Given the description of an element on the screen output the (x, y) to click on. 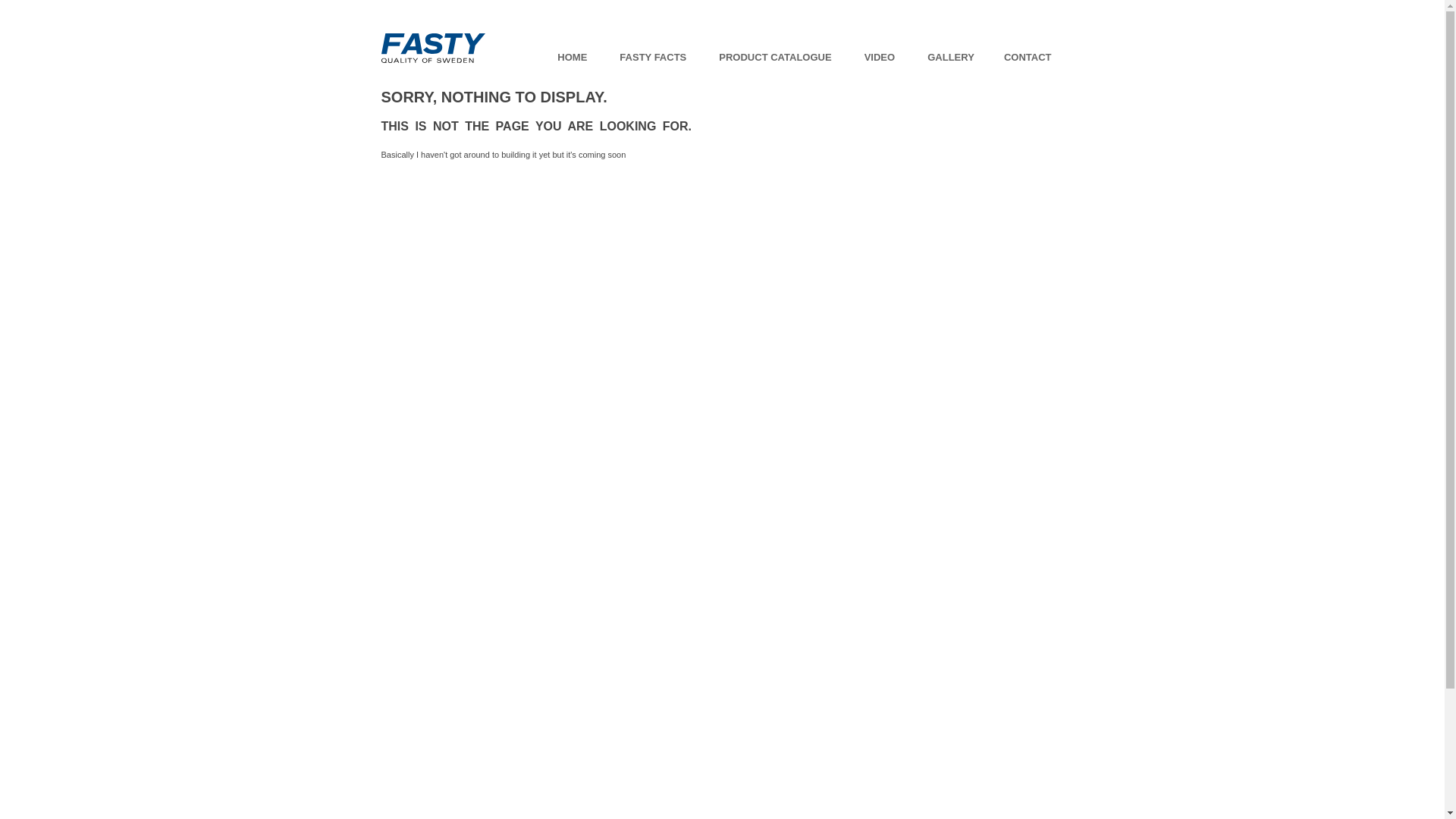
FASTY FACTS Element type: text (652, 57)
HOME Element type: text (572, 57)
PRODUCT CATALOGUE Element type: text (774, 57)
CONTACT Element type: text (1027, 57)
GALLERY Element type: text (950, 57)
VIDEO Element type: text (879, 57)
